Given the description of an element on the screen output the (x, y) to click on. 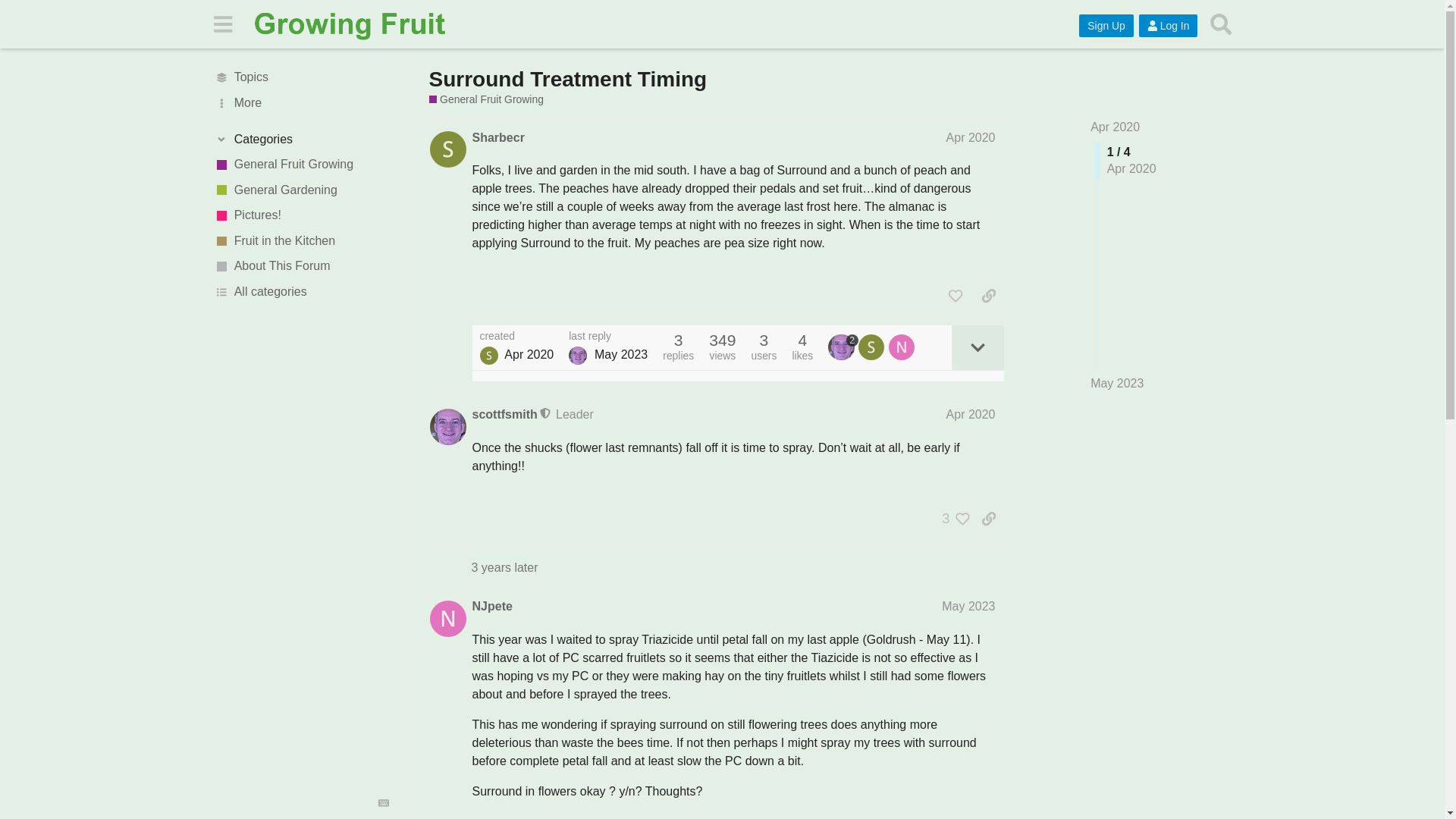
Search (1220, 23)
Sign Up (1105, 25)
Log In (1168, 25)
Post date (970, 137)
Sidebar (222, 23)
General Gardening (301, 190)
Jump to the last post (1116, 382)
All categories (301, 291)
Pictures! (301, 216)
